Given the description of an element on the screen output the (x, y) to click on. 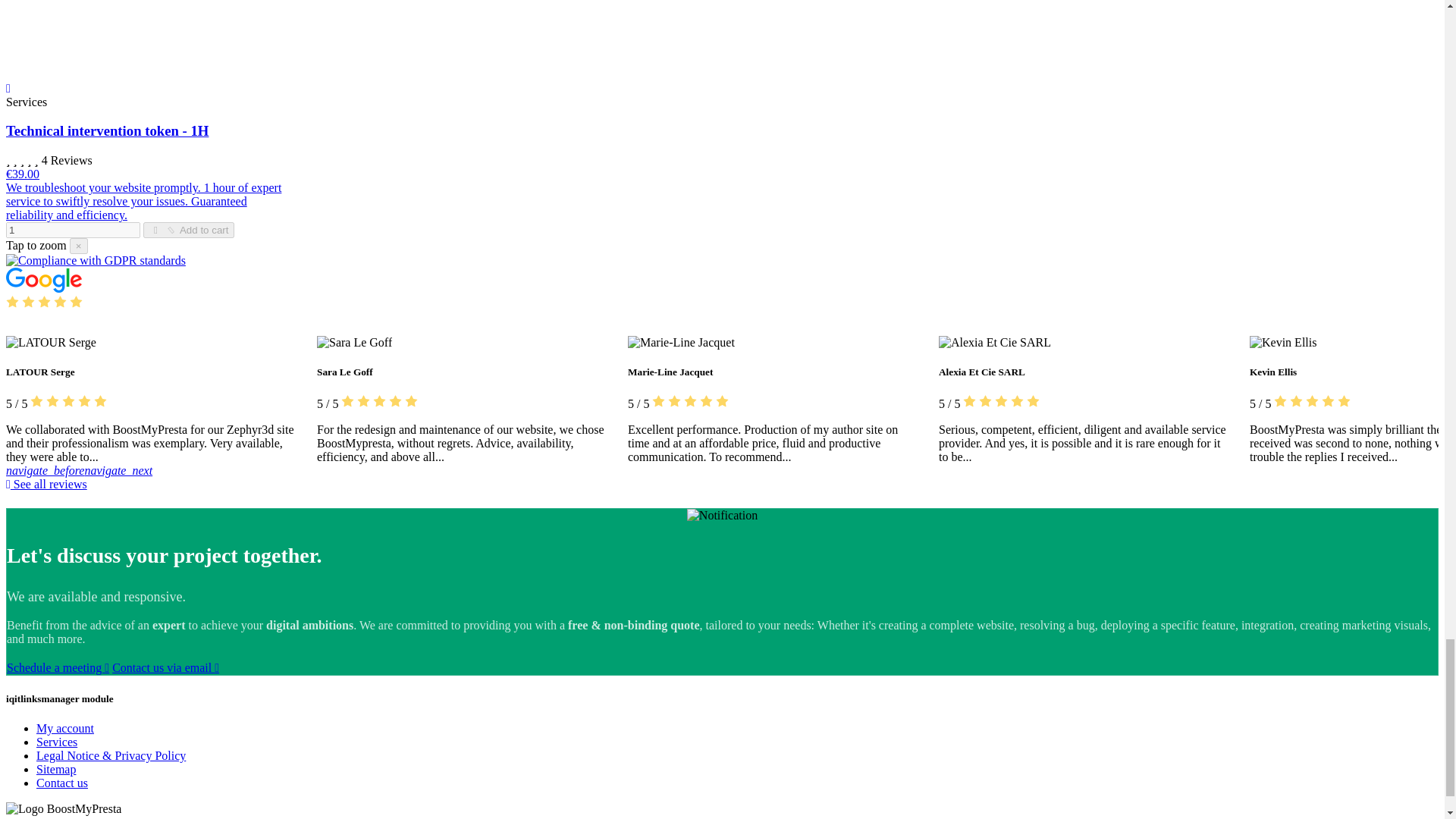
1 (72, 229)
